Given the description of an element on the screen output the (x, y) to click on. 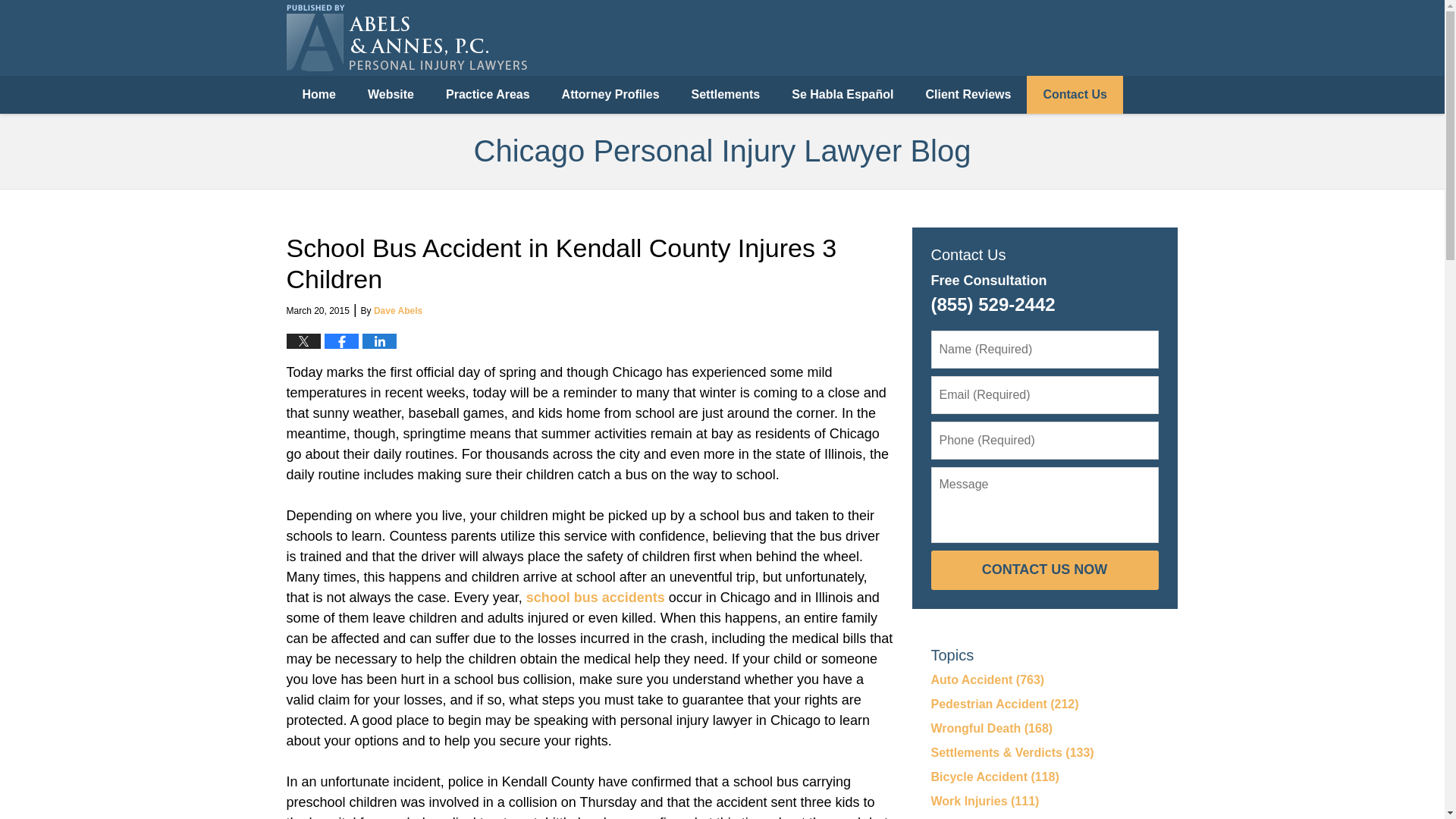
Chicago Personal Injury Lawyer Blog (406, 37)
Se habla espanol (1119, 61)
Dave Abels (398, 310)
Mowimy po polsku (945, 61)
Website (390, 94)
school bus accidents (595, 597)
Client Reviews (968, 94)
Please enter a valid phone number. (1044, 440)
Contact Us (1074, 94)
Home (319, 94)
